Given the description of an element on the screen output the (x, y) to click on. 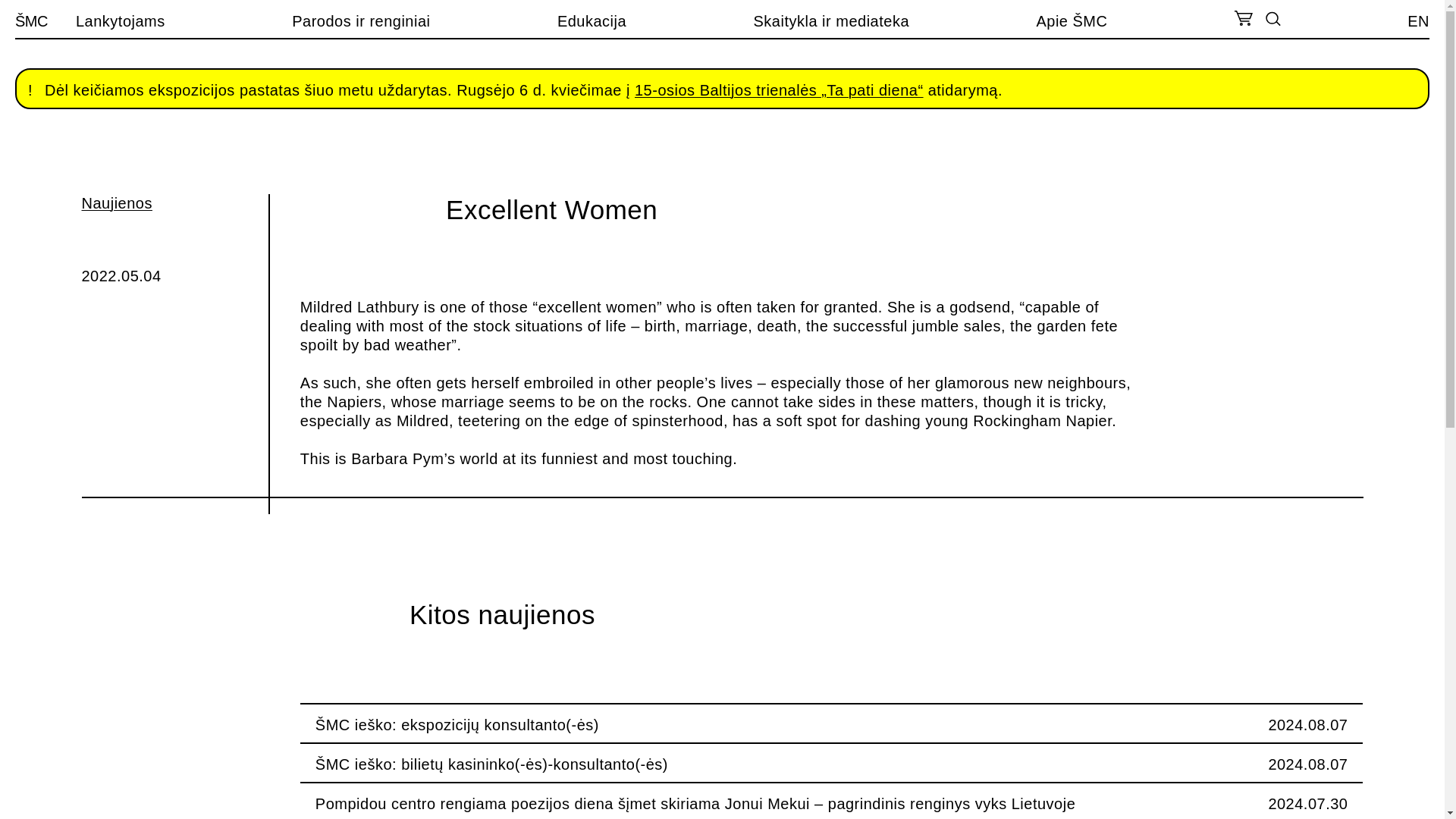
Edukacija (591, 21)
EN (1418, 21)
Parodos ir renginiai (360, 21)
Lankytojams (120, 21)
Skaitykla ir mediateka (832, 21)
